Given the description of an element on the screen output the (x, y) to click on. 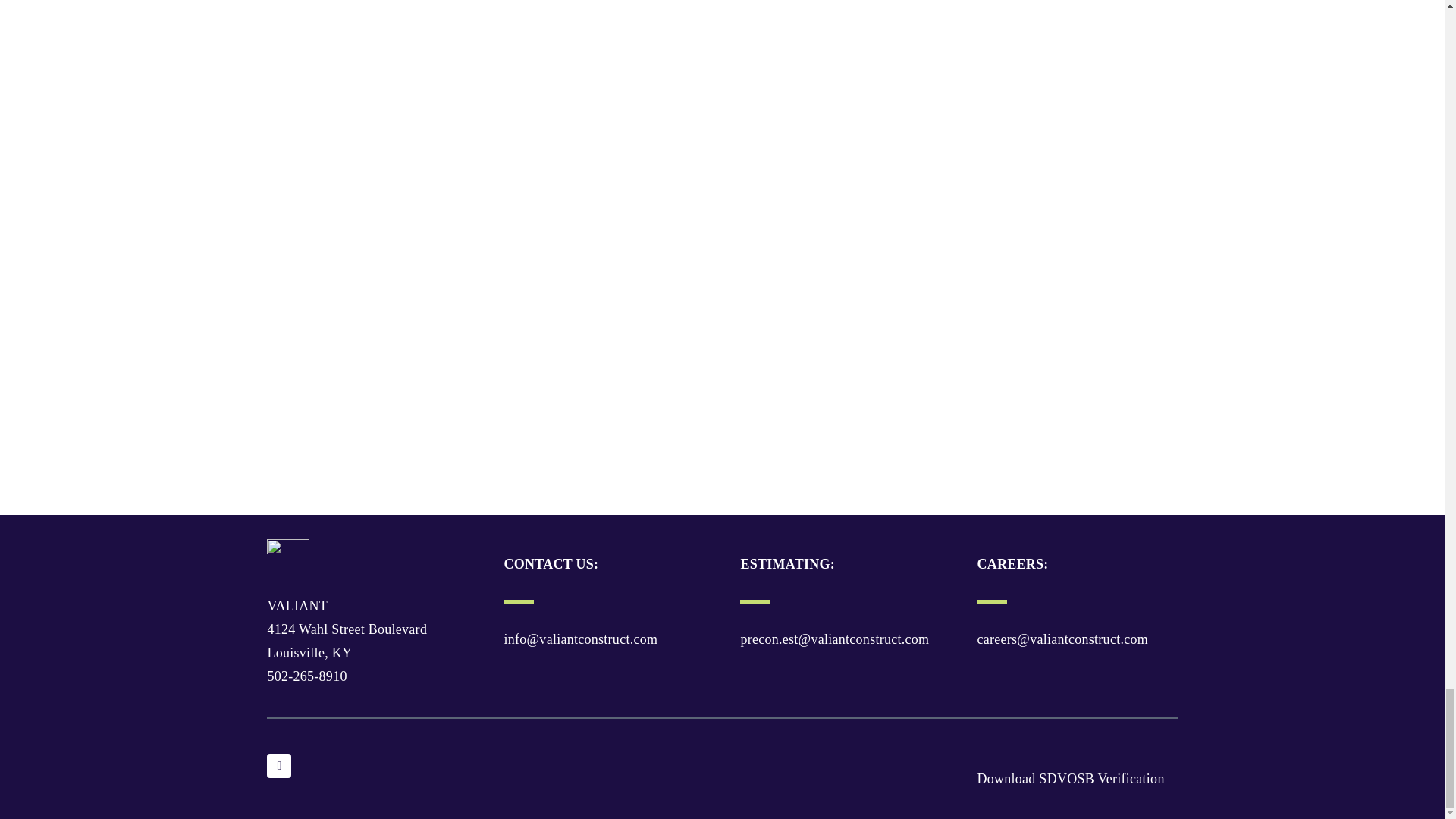
502-265-8910 (306, 676)
Download SDVOSB Verification (1069, 778)
LinkedIn (278, 765)
